Given the description of an element on the screen output the (x, y) to click on. 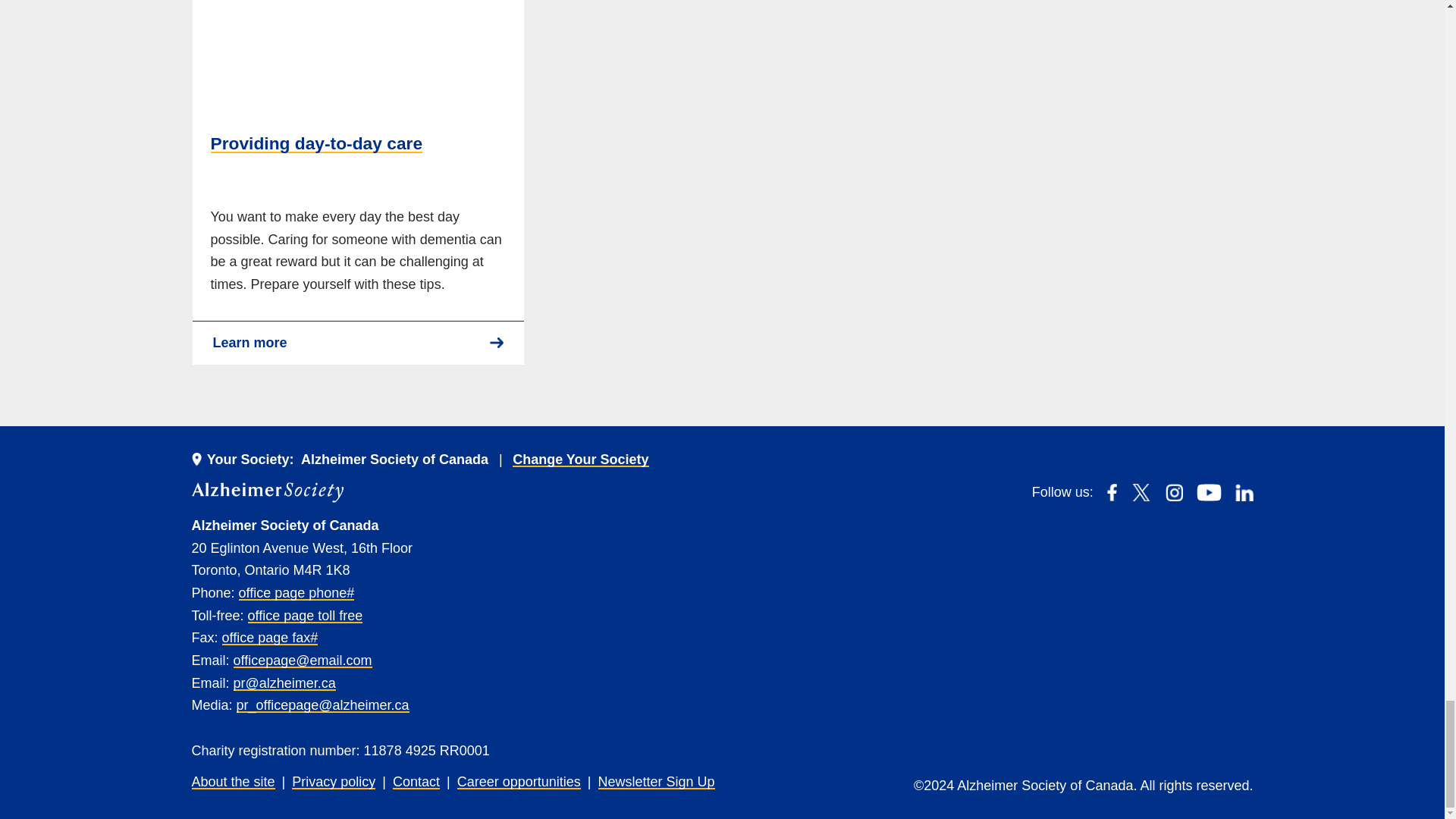
Alzheimer Society of Canada (266, 492)
Providing day-to-day care (358, 342)
